Given the description of an element on the screen output the (x, y) to click on. 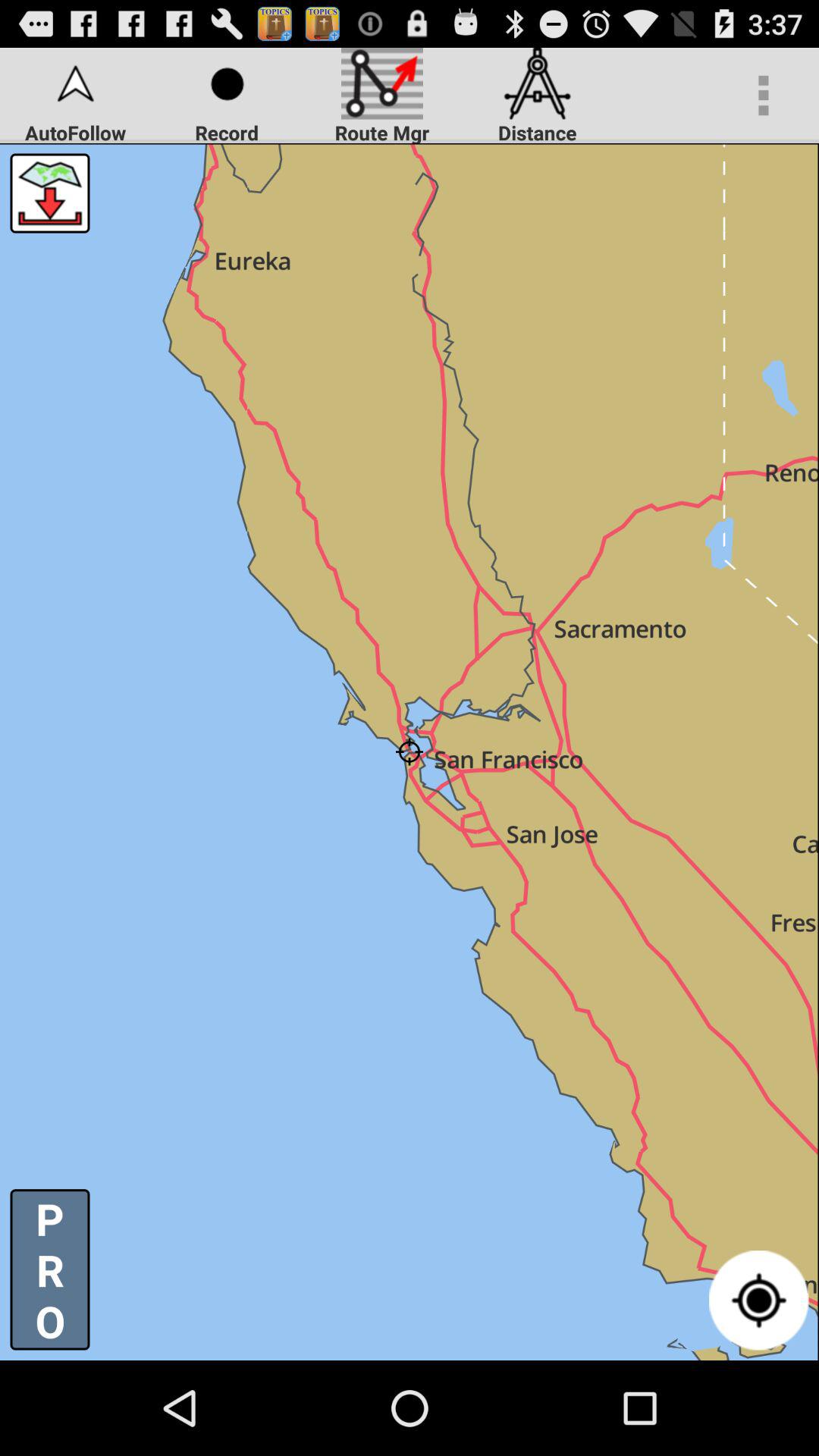
download map (49, 193)
